Given the description of an element on the screen output the (x, y) to click on. 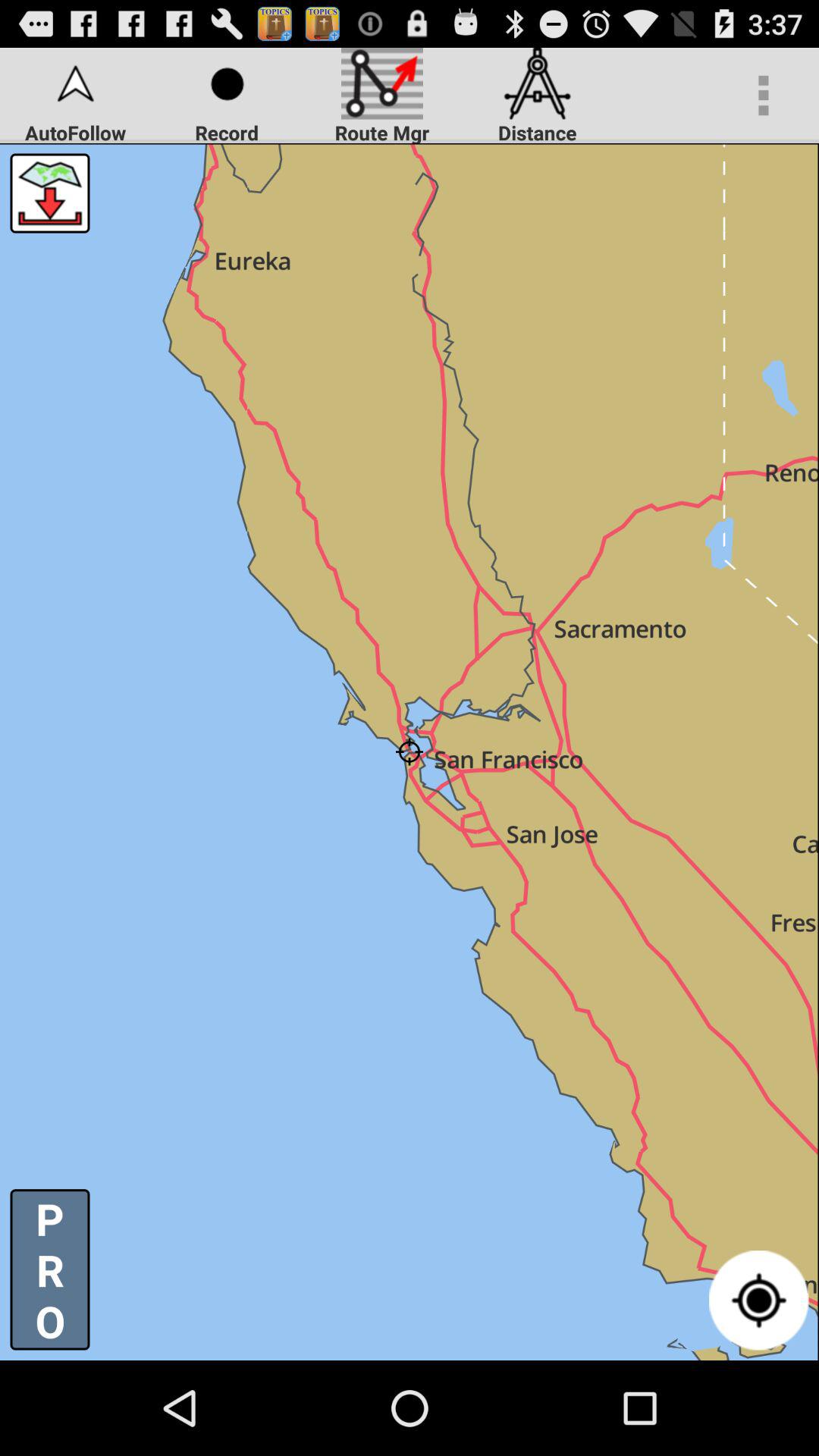
download map (49, 193)
